Given the description of an element on the screen output the (x, y) to click on. 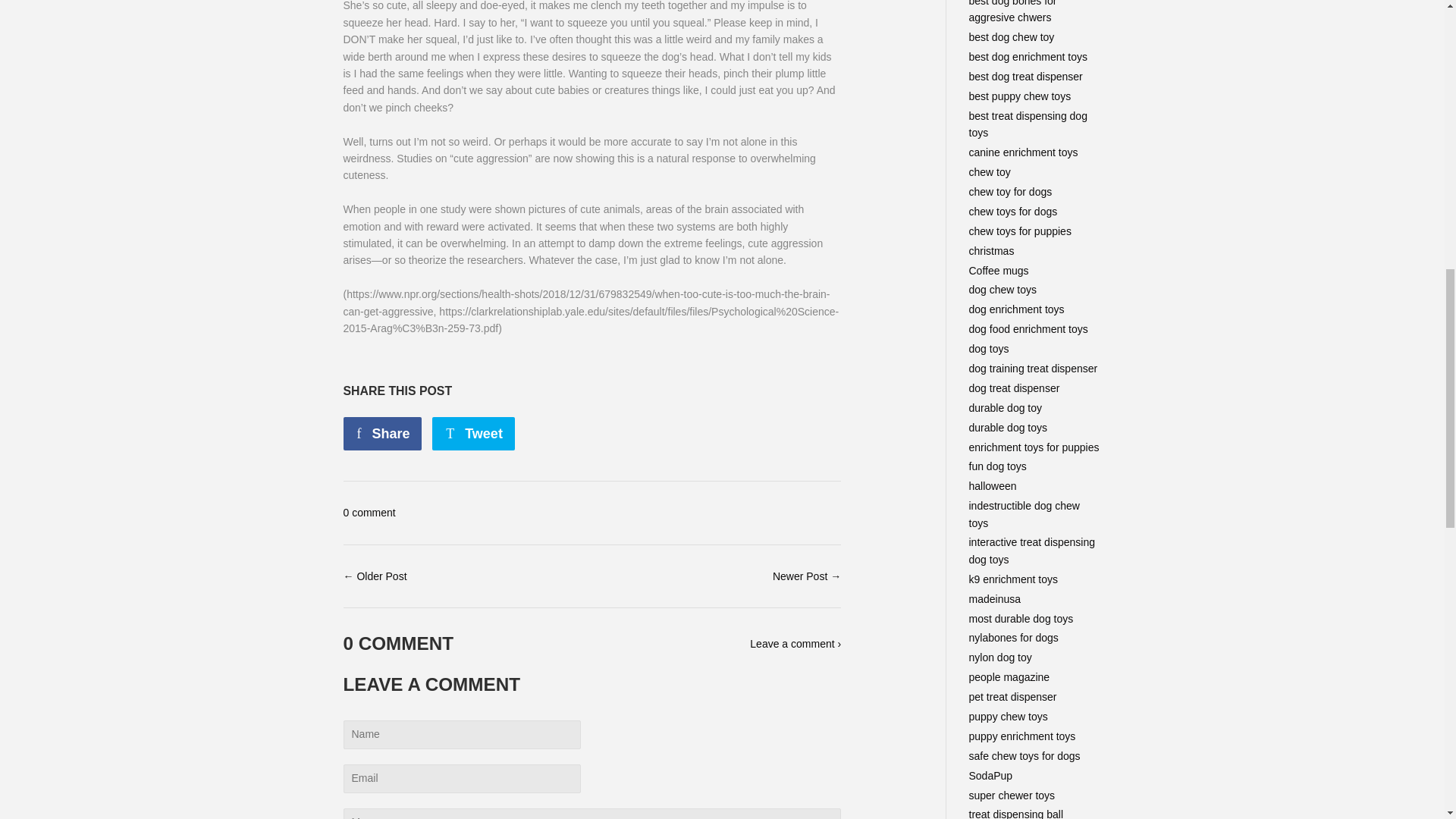
Show articles tagged best dog chew toy (1011, 37)
Show articles tagged best dog bones for aggresive chwers (1013, 11)
Show articles tagged best dog treat dispenser (1026, 76)
Tweet on Twitter (473, 433)
Show articles tagged best dog enrichment toys (1028, 56)
Show articles tagged best puppy chew toys (1020, 96)
Share on Facebook (382, 433)
